Given the description of an element on the screen output the (x, y) to click on. 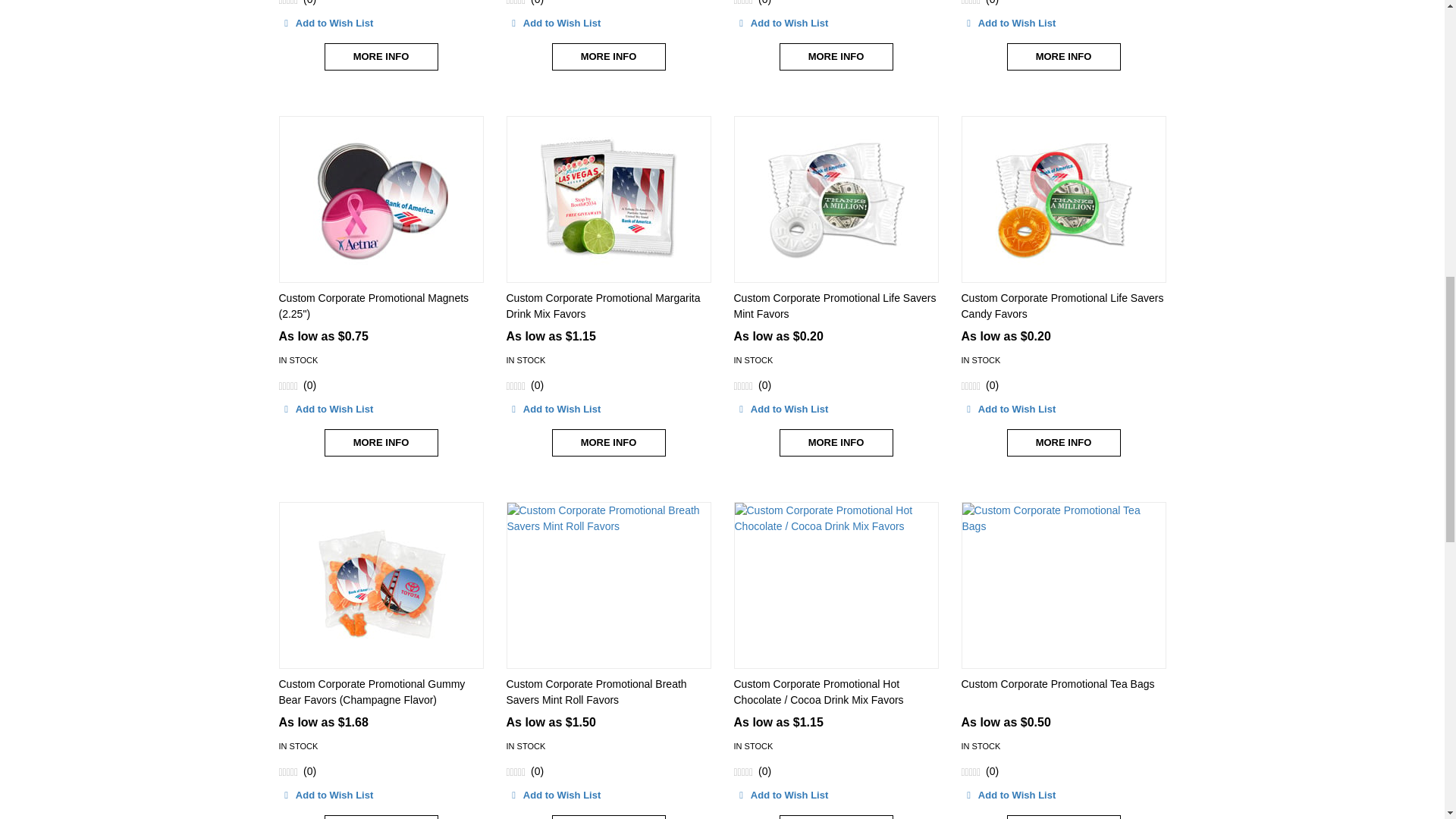
MORE INFO (381, 57)
Add to Wish List (554, 23)
Add to Wish List (326, 23)
